Given the description of an element on the screen output the (x, y) to click on. 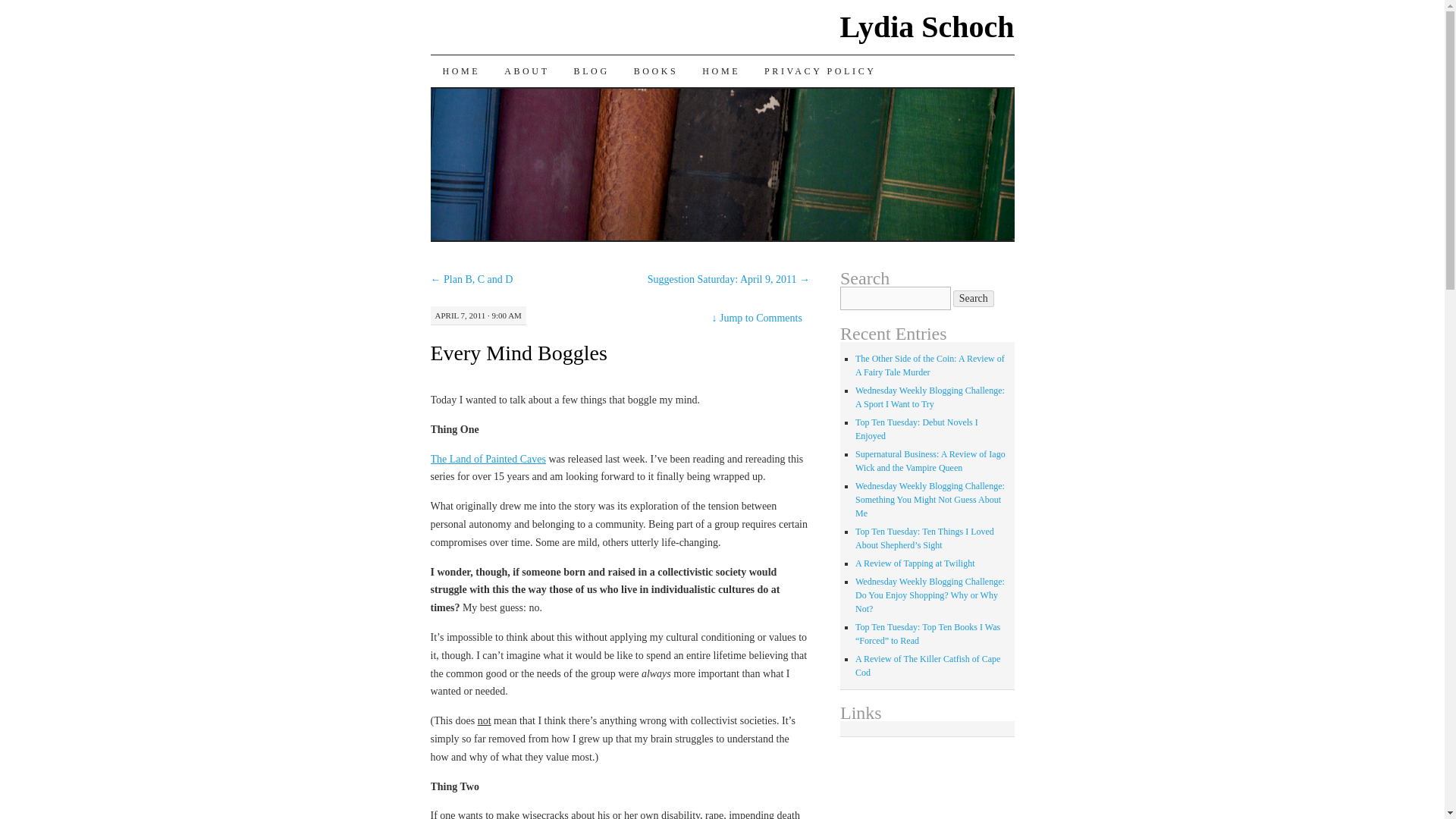
PRIVACY POLICY (820, 70)
Lydia Schoch (926, 26)
The Other Side of the Coin: A Review of A Fairy Tale Murder (930, 364)
Search (973, 298)
BLOG (591, 70)
The Land of Painted Caves (488, 459)
SKIP TO CONTENT (440, 101)
Every Mind Boggles (518, 352)
HOME (721, 70)
Skip to content (440, 101)
HOME (461, 70)
Top Ten Tuesday: Debut Novels I Enjoyed (917, 428)
Lydia Schoch (926, 26)
ABOUT (526, 70)
Wednesday Weekly Blogging Challenge: A Sport I Want to Try (930, 396)
